Given the description of an element on the screen output the (x, y) to click on. 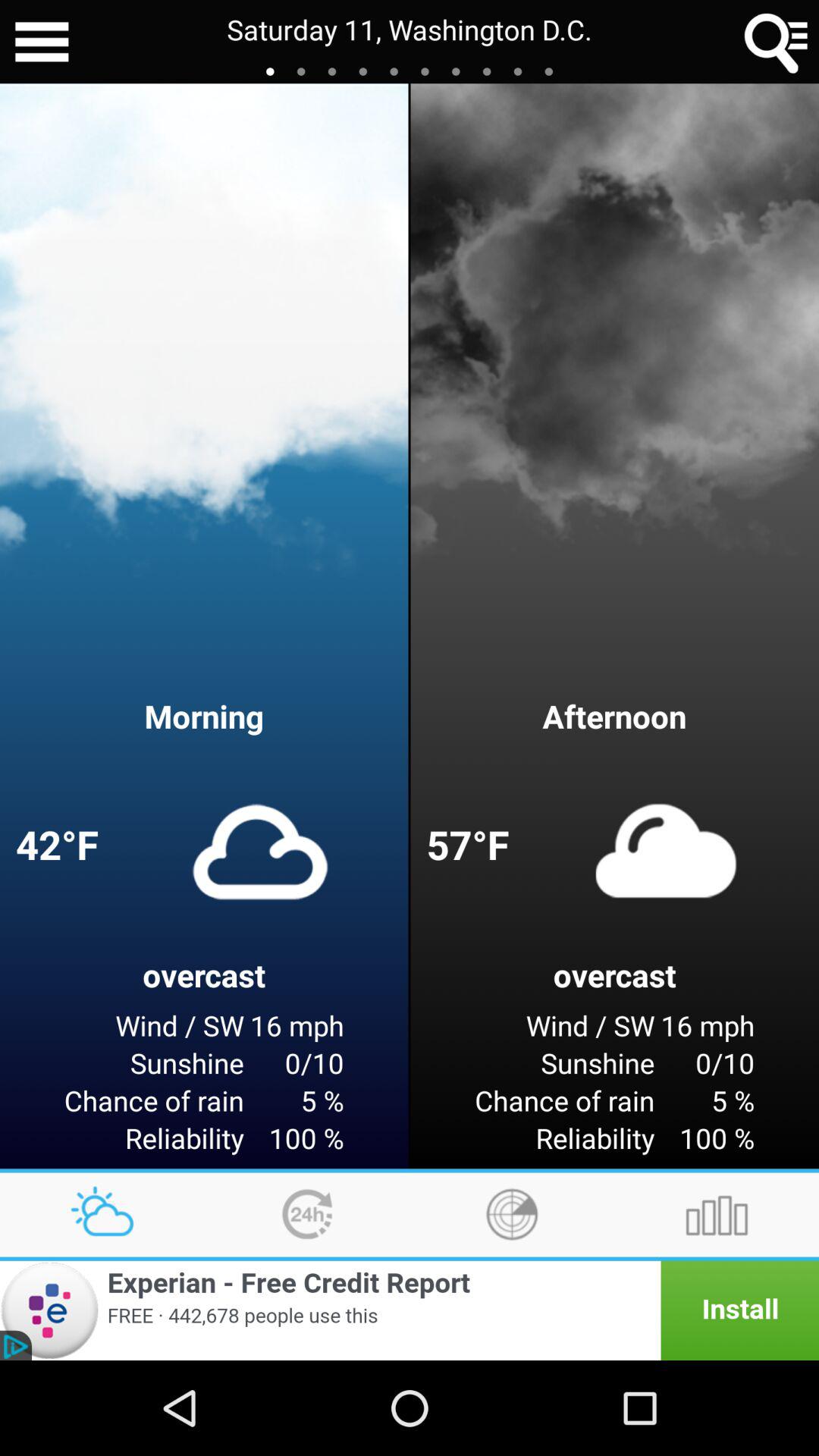
turn off the item to the right of the saturday 11 washington icon (777, 41)
